Given the description of an element on the screen output the (x, y) to click on. 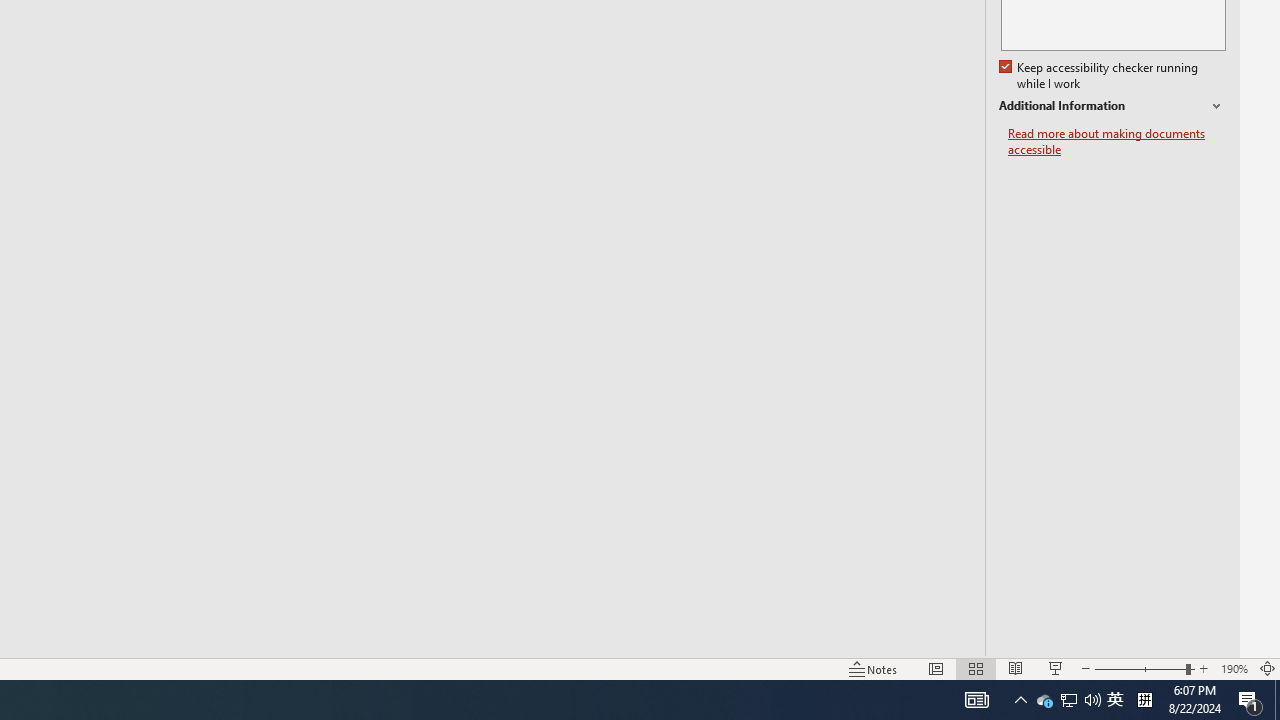
Additional Information (1112, 106)
Zoom 190% (1234, 668)
Keep accessibility checker running while I work (1099, 76)
Read more about making documents accessible (1117, 142)
